Given the description of an element on the screen output the (x, y) to click on. 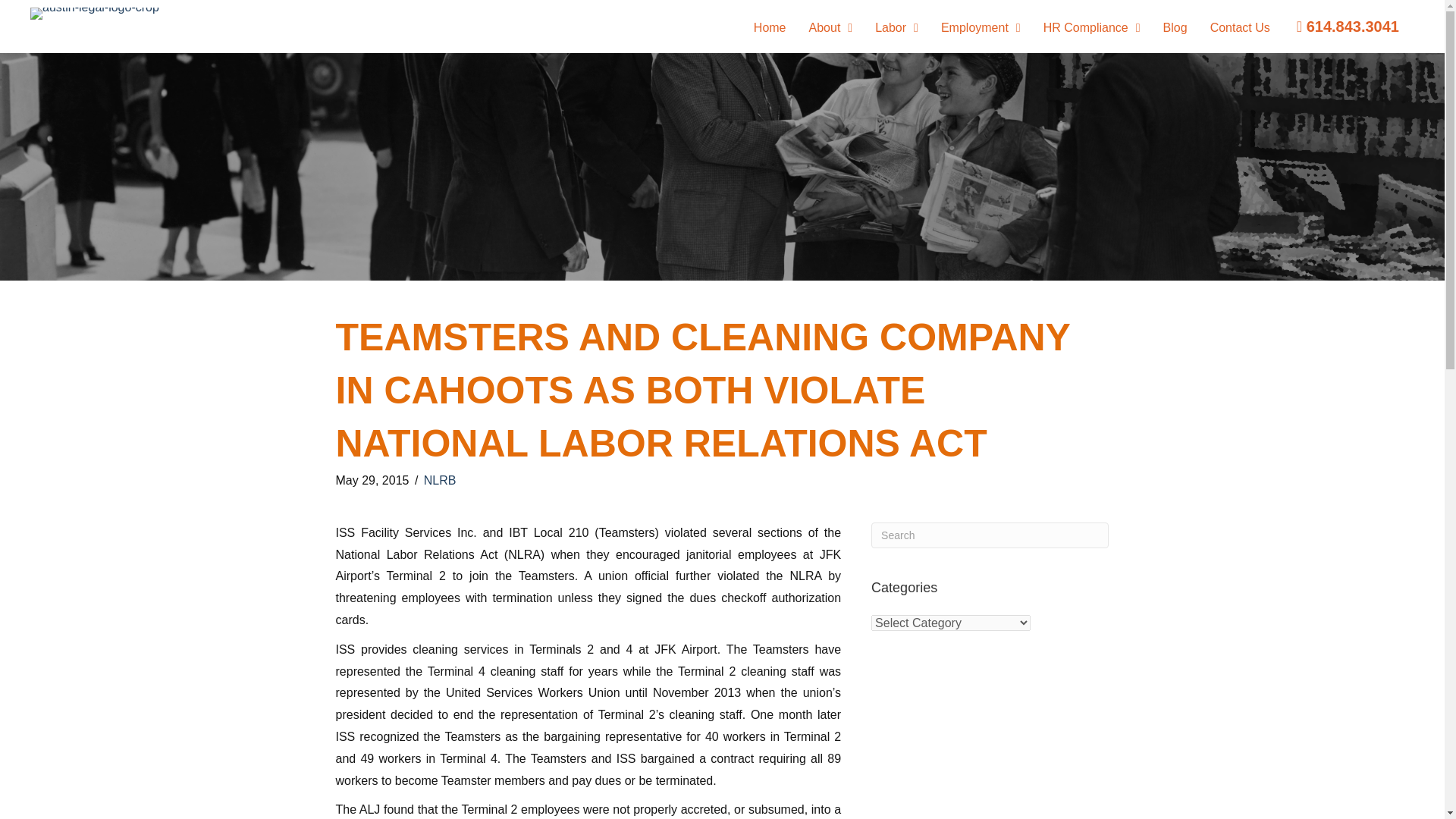
Employment (980, 27)
Blog (1175, 27)
Contact Us (1240, 27)
HR Compliance (1091, 27)
Type and press Enter to search. (989, 534)
austin-legal-logo-crop (94, 13)
614.843.3041 (1347, 26)
Home (769, 27)
Labor (896, 27)
About (831, 27)
